Given the description of an element on the screen output the (x, y) to click on. 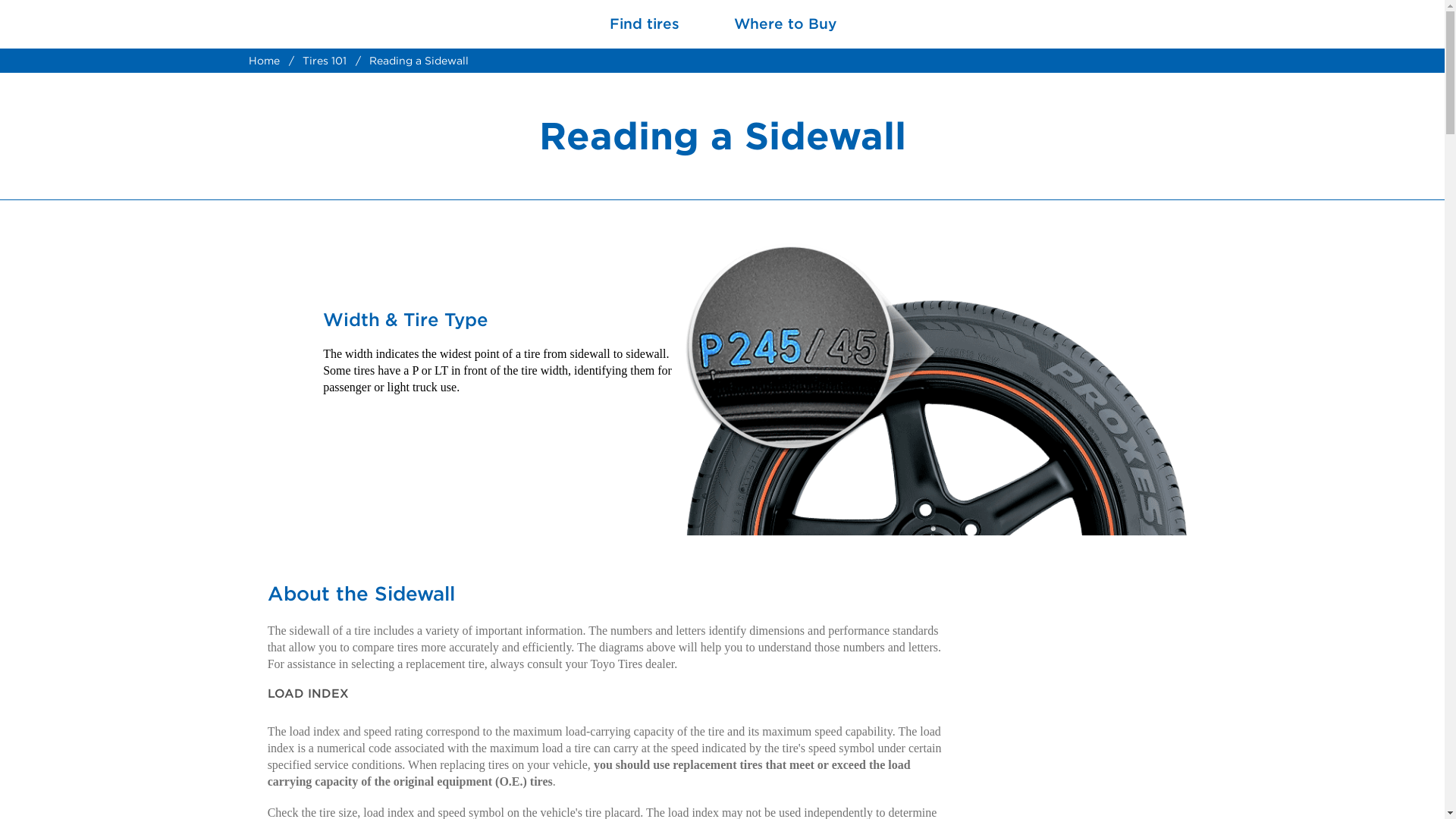
Home (263, 60)
Toyo Tires (317, 24)
Reading a Sidewall (417, 60)
Tires 101 (323, 60)
Toyo Tires (317, 24)
Where to Buy (785, 24)
Find tires (643, 24)
